Given the description of an element on the screen output the (x, y) to click on. 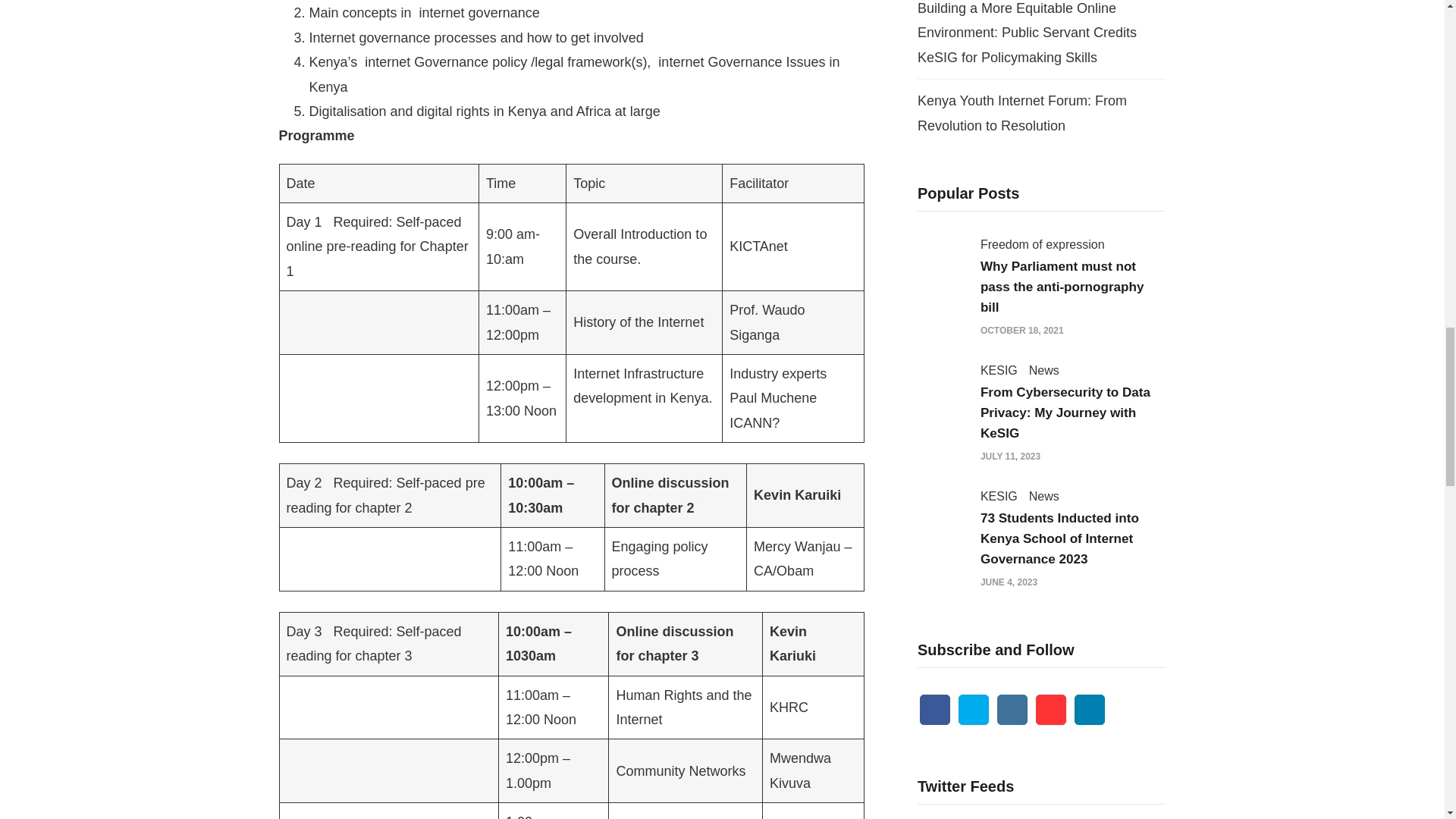
youtube-square (1050, 709)
linkedin (1089, 709)
facebook (935, 709)
instagram (1012, 709)
twitter (973, 709)
